Given the description of an element on the screen output the (x, y) to click on. 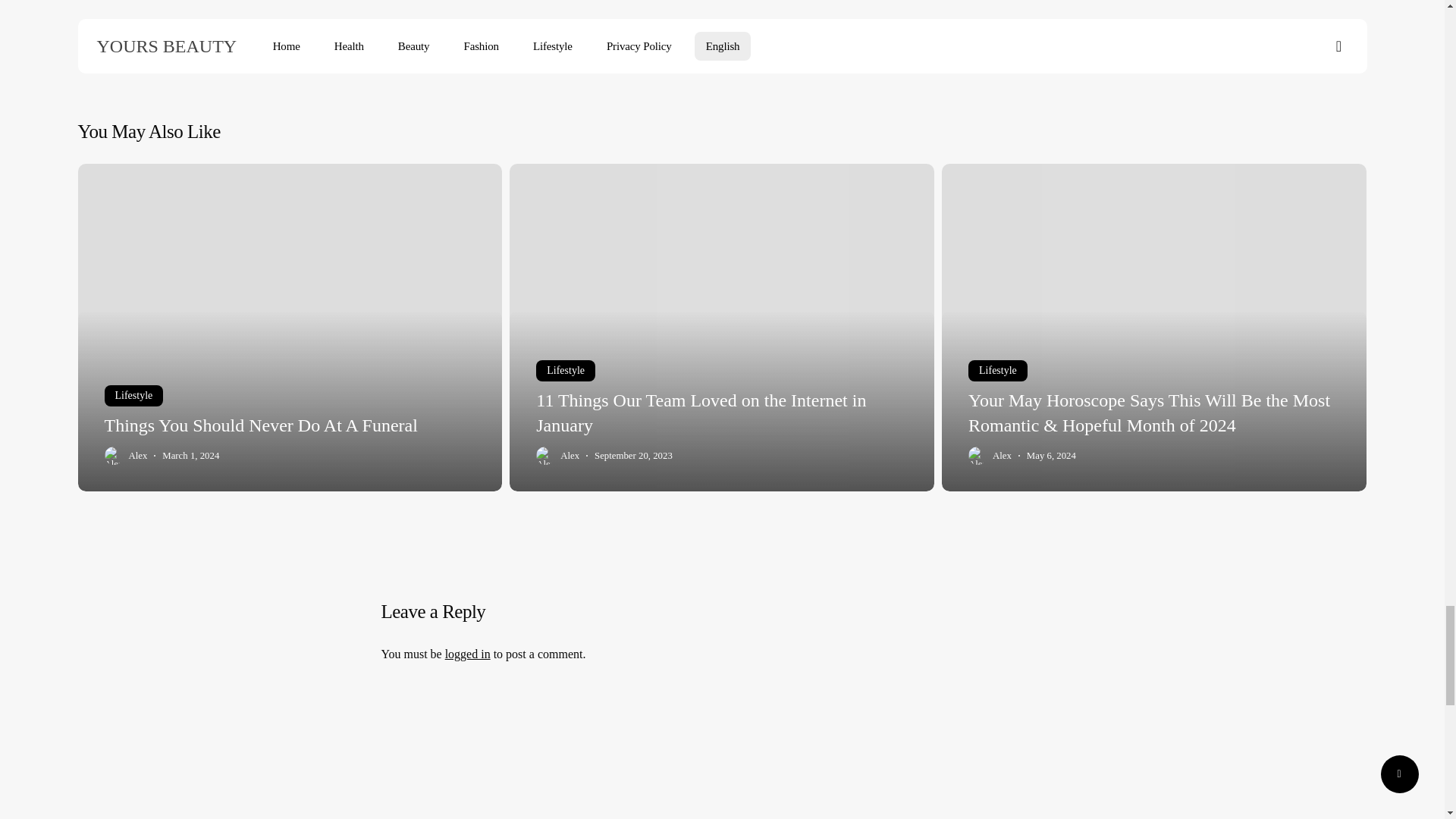
11 Things Our Team Loved on the Internet in January (700, 412)
Lifestyle (997, 370)
Lifestyle (565, 370)
Lifestyle (133, 395)
Things You Should Never Do At A Funeral (260, 424)
logged in (467, 653)
